Given the description of an element on the screen output the (x, y) to click on. 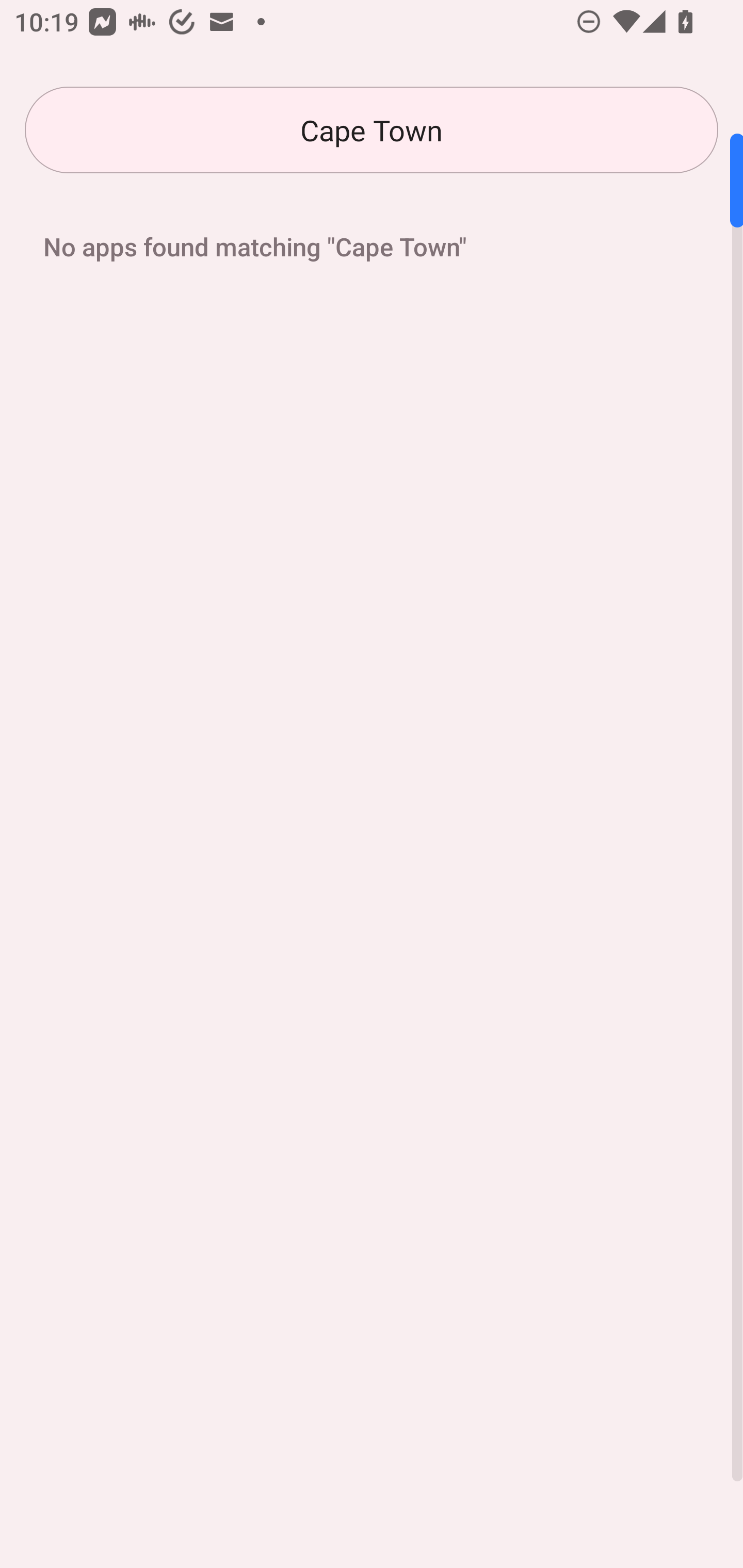
Cape Town (371, 130)
